Given the description of an element on the screen output the (x, y) to click on. 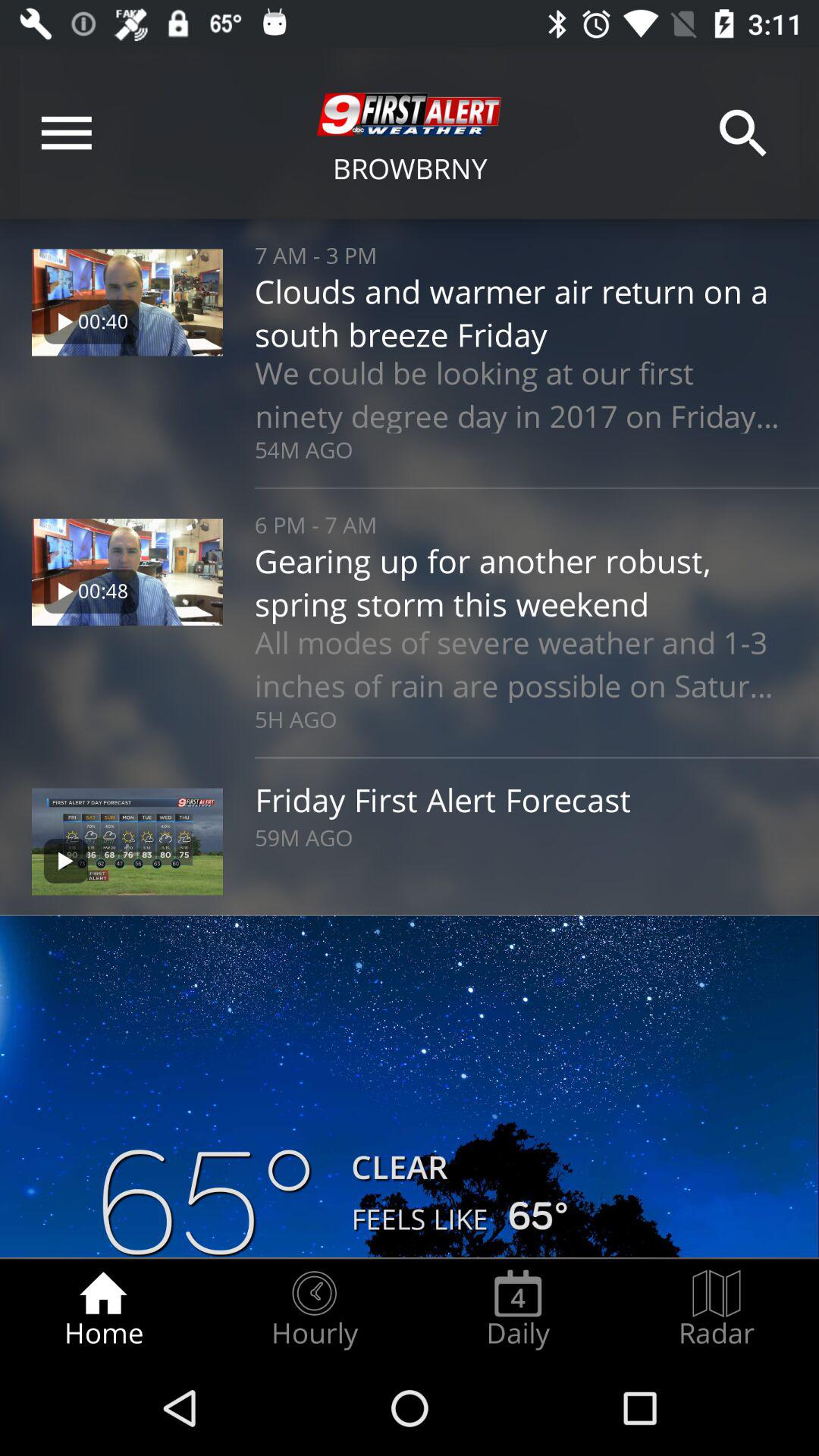
open the item next to daily radio button (314, 1309)
